Given the description of an element on the screen output the (x, y) to click on. 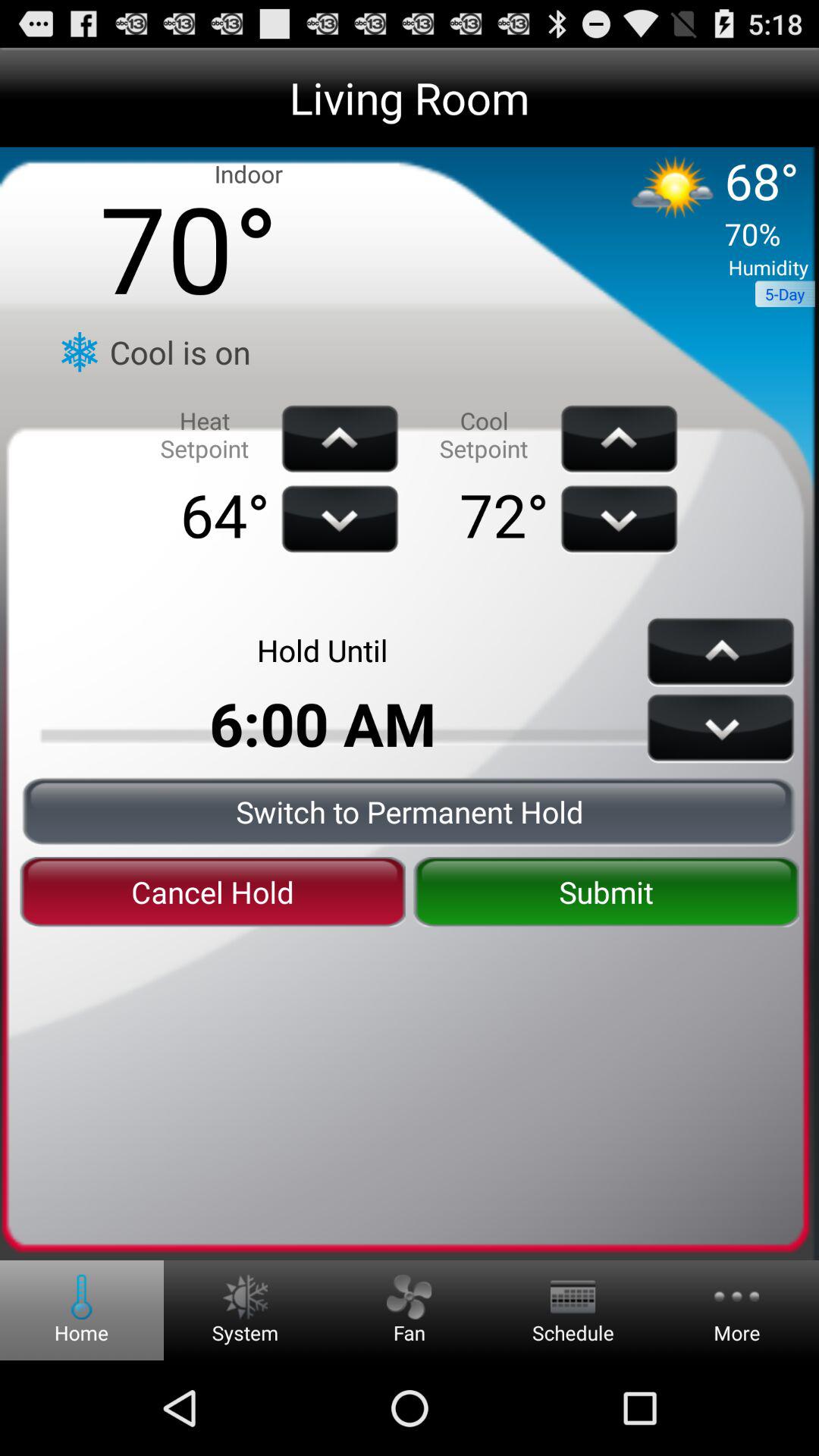
turn on the icon below the switch to permanent item (212, 892)
